Given the description of an element on the screen output the (x, y) to click on. 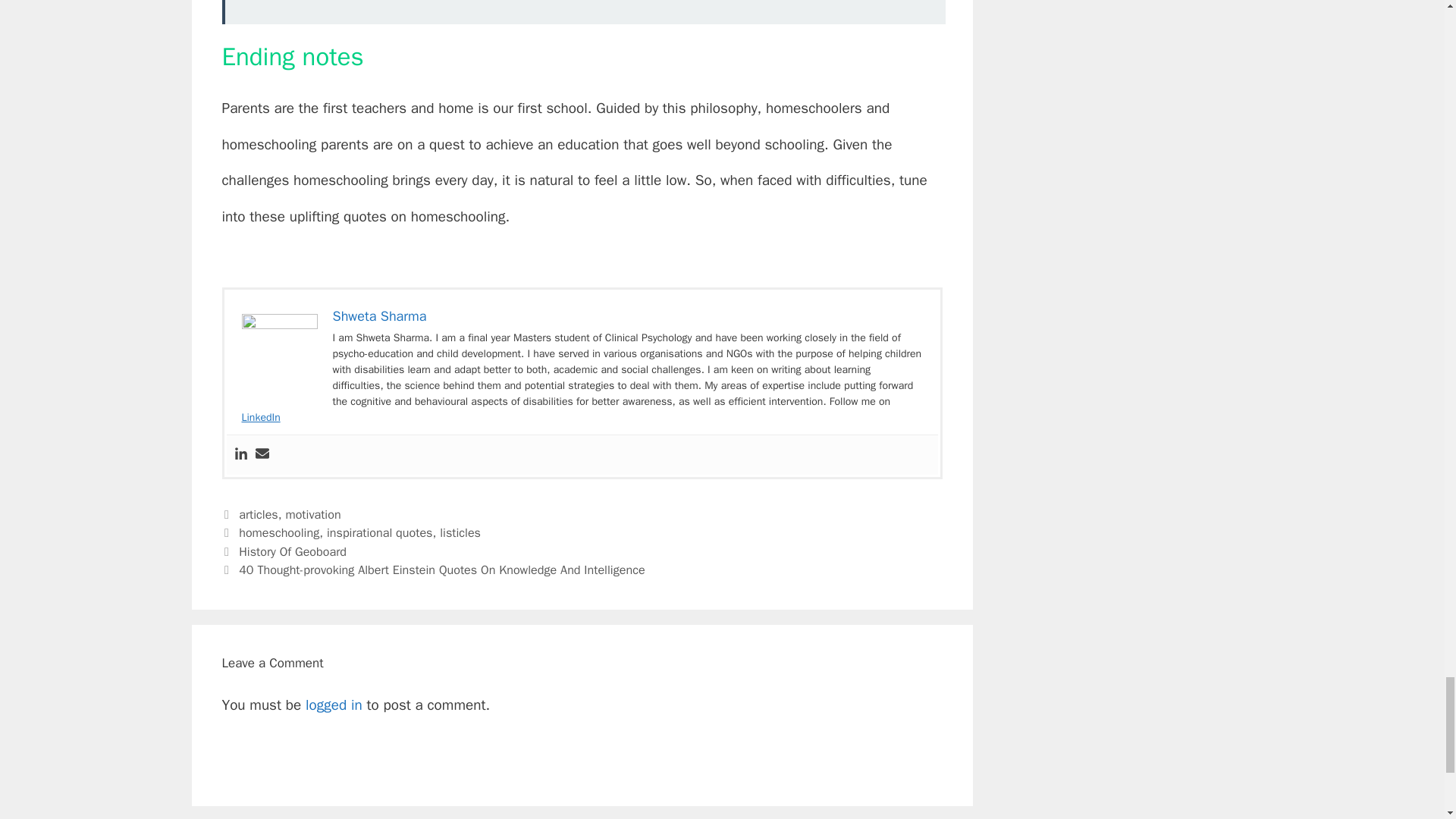
motivation (312, 514)
LinkedIn (260, 417)
inspirational quotes (379, 532)
History Of Geoboard (292, 551)
homeschooling (278, 532)
Shweta Sharma (378, 315)
listicles (459, 532)
articles (258, 514)
READ :   Are yellow overlays really effective in dyslexia? (582, 12)
